Given the description of an element on the screen output the (x, y) to click on. 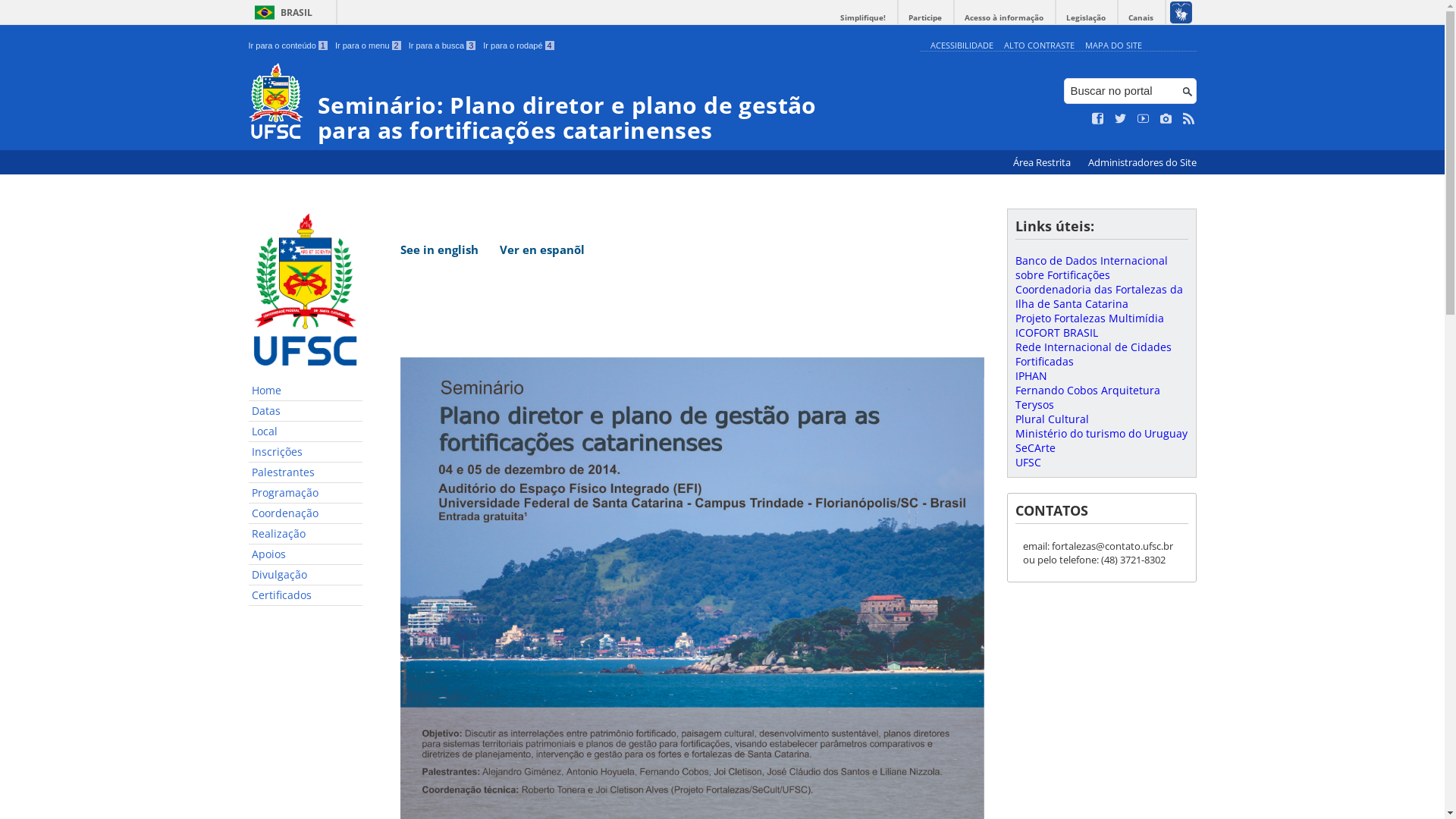
Local Element type: text (305, 431)
Plural Cultural Element type: text (1051, 418)
See in english Element type: text (439, 249)
Fernando Cobos Arquitetura Element type: text (1086, 389)
Administradores do Site Element type: text (1141, 162)
Coordenadoria das Fortalezas da Ilha de Santa Catarina Element type: text (1098, 296)
Datas Element type: text (305, 411)
Palestrantes Element type: text (305, 472)
Certificados Element type: text (305, 595)
ALTO CONTRASTE Element type: text (1039, 44)
Rede Internacional de Cidades Fortificadas Element type: text (1092, 353)
Home Element type: text (305, 390)
ACESSIBILIDADE Element type: text (960, 44)
BRASIL Element type: text (280, 12)
SeCArte Element type: text (1034, 447)
Simplifique! Element type: text (862, 18)
Curta no Facebook Element type: hover (1098, 118)
Ir para o menu 2 Element type: text (368, 45)
Siga no Twitter Element type: hover (1120, 118)
MAPA DO SITE Element type: text (1112, 44)
Canais Element type: text (1140, 18)
ICOFORT BRASIL Element type: text (1055, 332)
Ir para a busca 3 Element type: text (442, 45)
Terysos Element type: text (1033, 404)
Apoios Element type: text (305, 554)
IPHAN Element type: text (1030, 375)
Veja no Instagram Element type: hover (1166, 118)
UFSC Element type: text (1027, 462)
Participe Element type: text (924, 18)
